Given the description of an element on the screen output the (x, y) to click on. 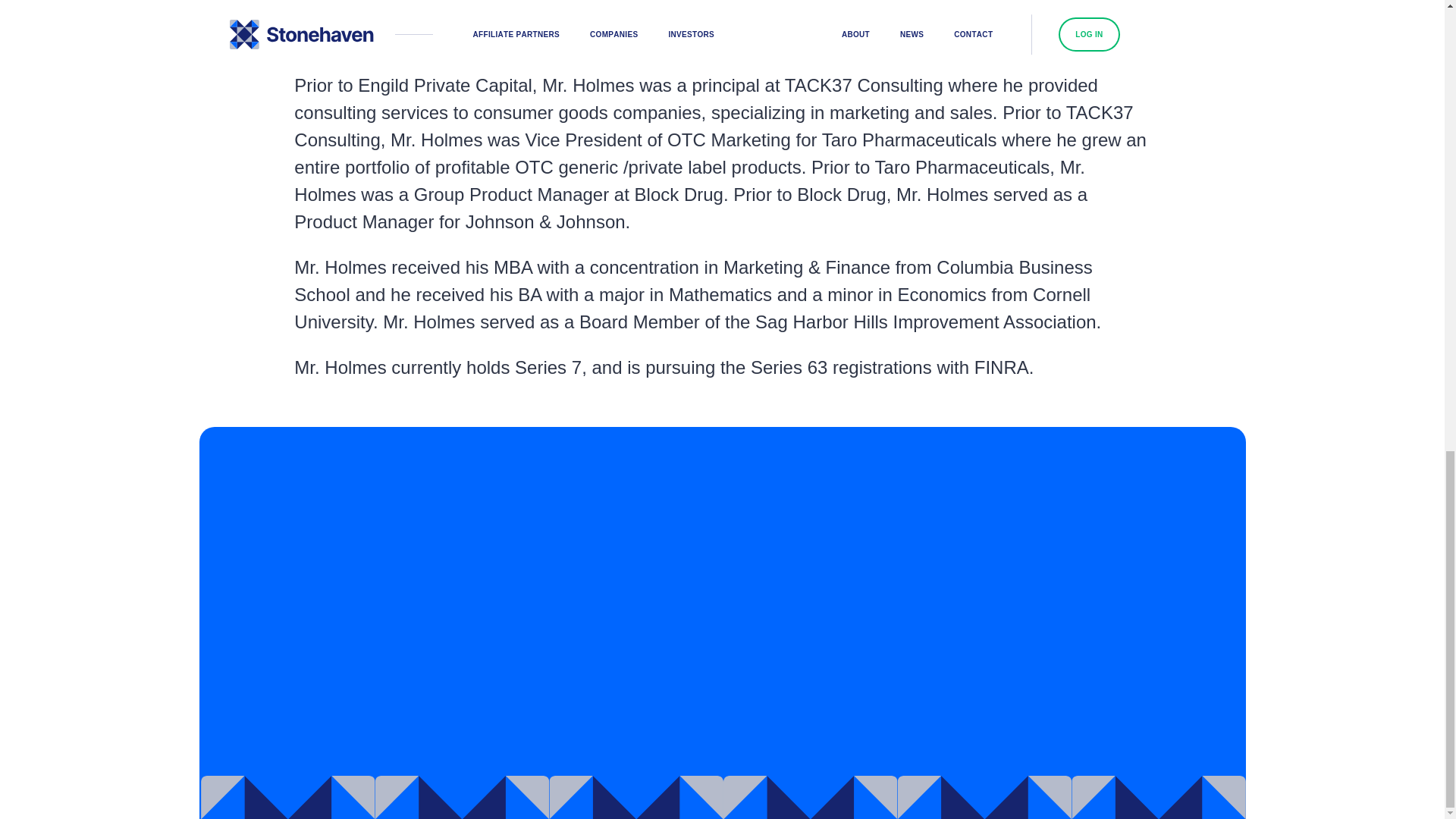
FINRA (1001, 367)
